Given the description of an element on the screen output the (x, y) to click on. 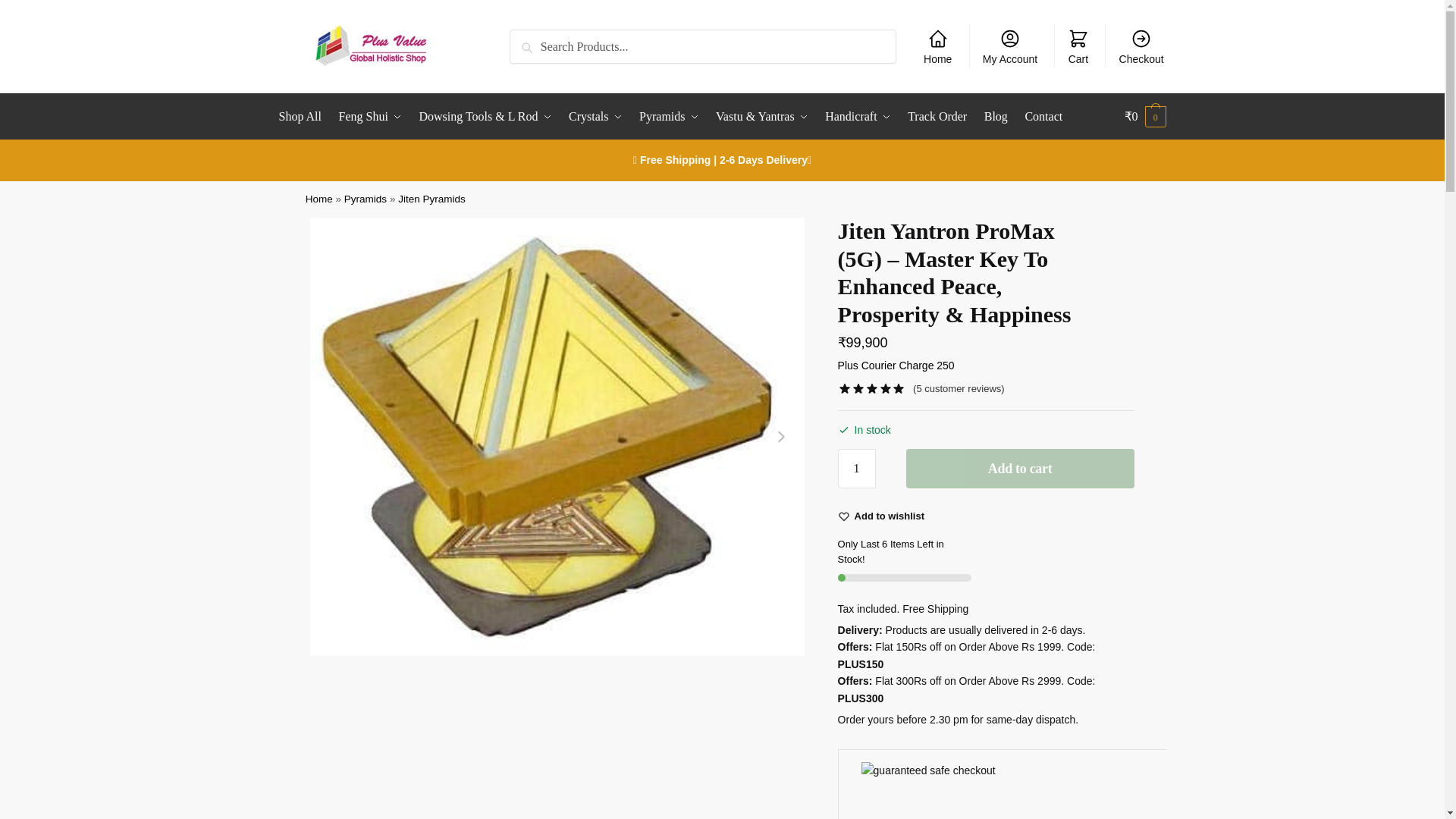
Checkout (1141, 45)
1 (857, 468)
My Account (1010, 45)
Home (937, 45)
Search (530, 39)
Shop All (304, 116)
Skip to navigation (48, 9)
Wishlist (889, 516)
Feng Shui (370, 116)
